Given the description of an element on the screen output the (x, y) to click on. 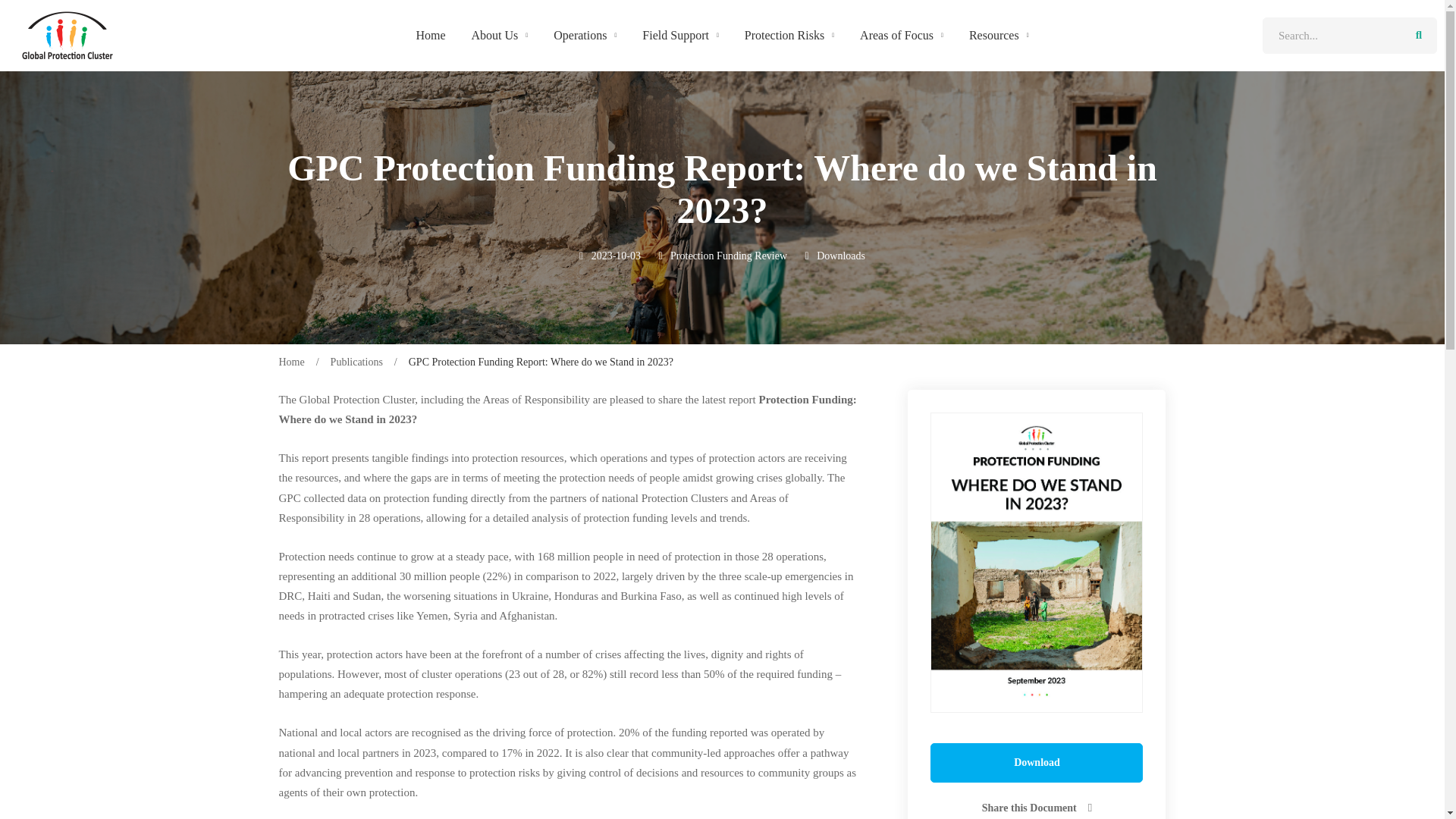
Home (430, 35)
Field Support (679, 35)
About Us (499, 35)
Protection Risks (789, 35)
Home (67, 35)
Operations (584, 35)
